Given the description of an element on the screen output the (x, y) to click on. 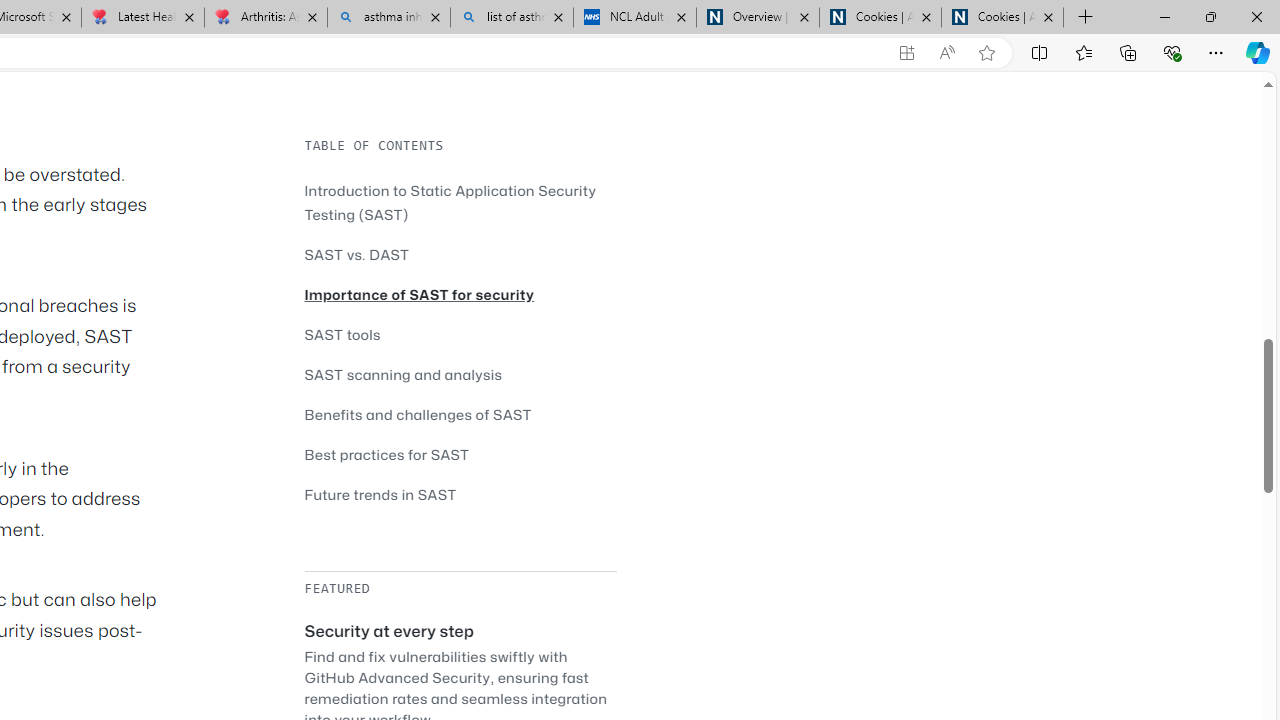
Benefits and challenges of SAST (460, 413)
SAST tools (460, 334)
Importance of SAST for security (419, 294)
SAST vs. DAST (460, 254)
Future trends in SAST (460, 493)
Benefits and challenges of SAST (418, 414)
